Given the description of an element on the screen output the (x, y) to click on. 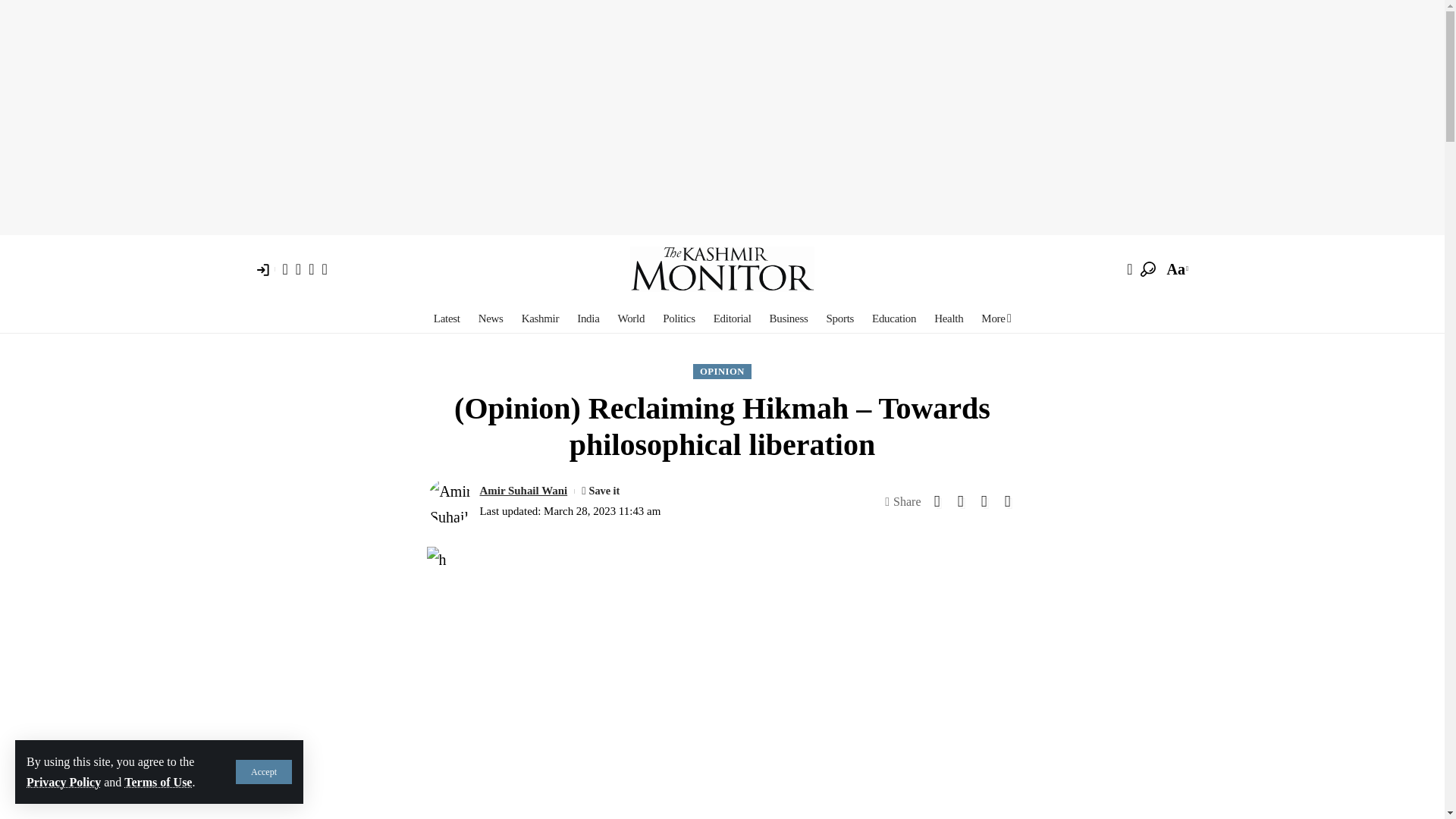
India (587, 318)
Terms of Use (157, 781)
Latest (446, 318)
Education (893, 318)
Aa (1176, 268)
Business (788, 318)
News (490, 318)
Kashmir (540, 318)
Politics (678, 318)
Health (948, 318)
More (996, 318)
Editorial (732, 318)
Accept (263, 771)
Sports (839, 318)
